Given the description of an element on the screen output the (x, y) to click on. 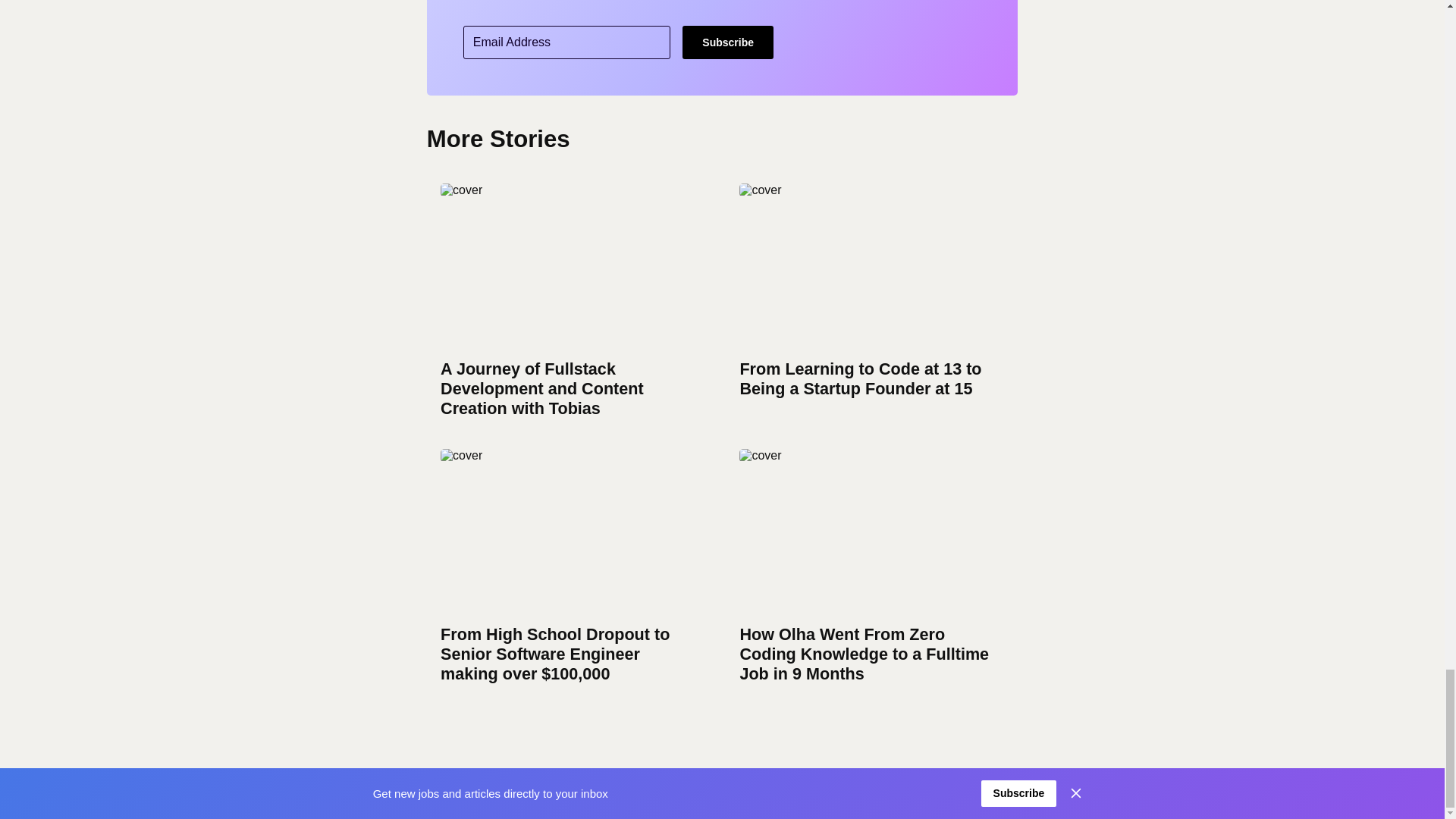
Subscribe (727, 41)
From Learning to Code at 13 to Being a Startup Founder at 15 (864, 305)
